Given the description of an element on the screen output the (x, y) to click on. 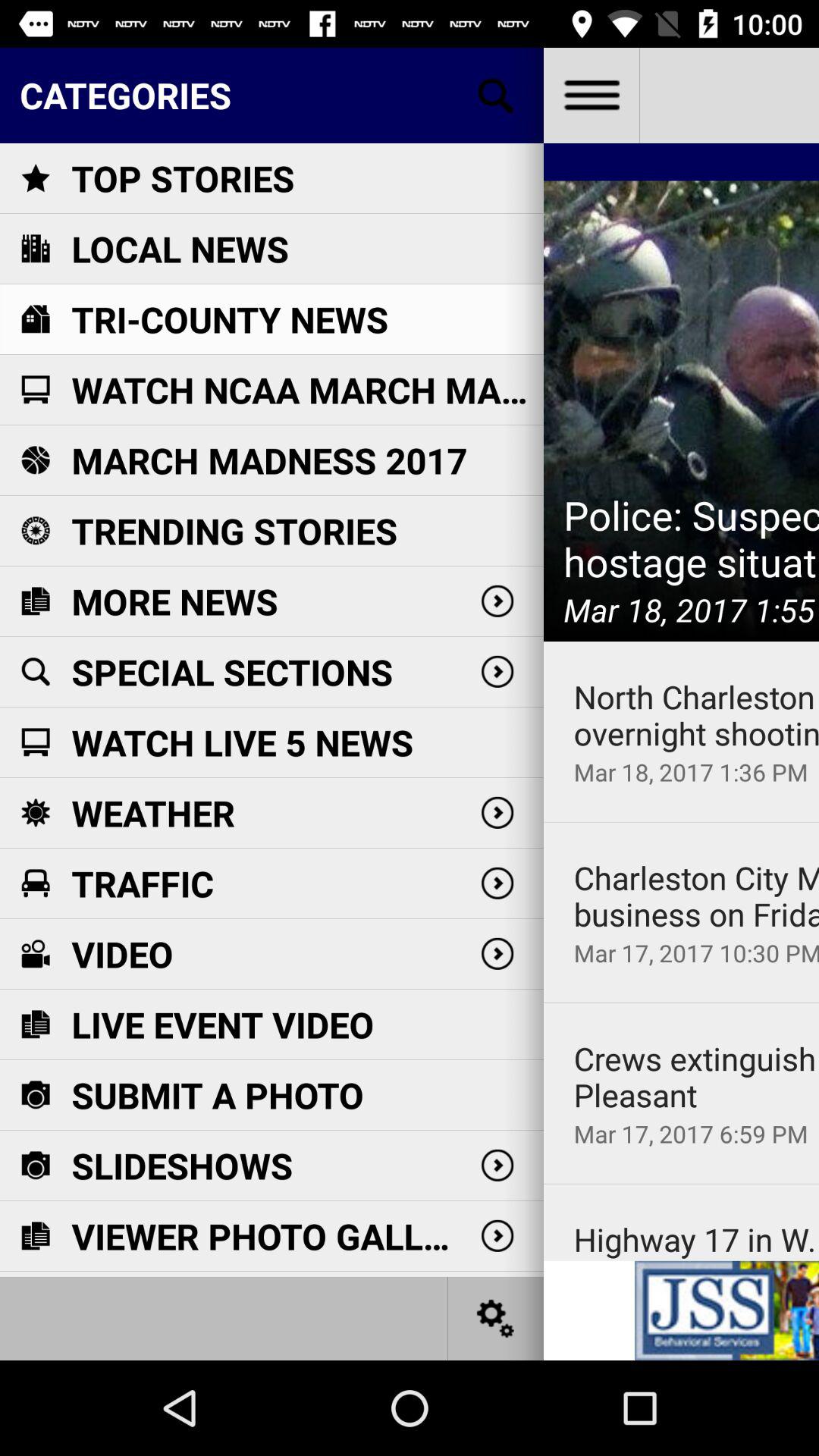
select the icon above mar 17 2017 item (696, 895)
